Given the description of an element on the screen output the (x, y) to click on. 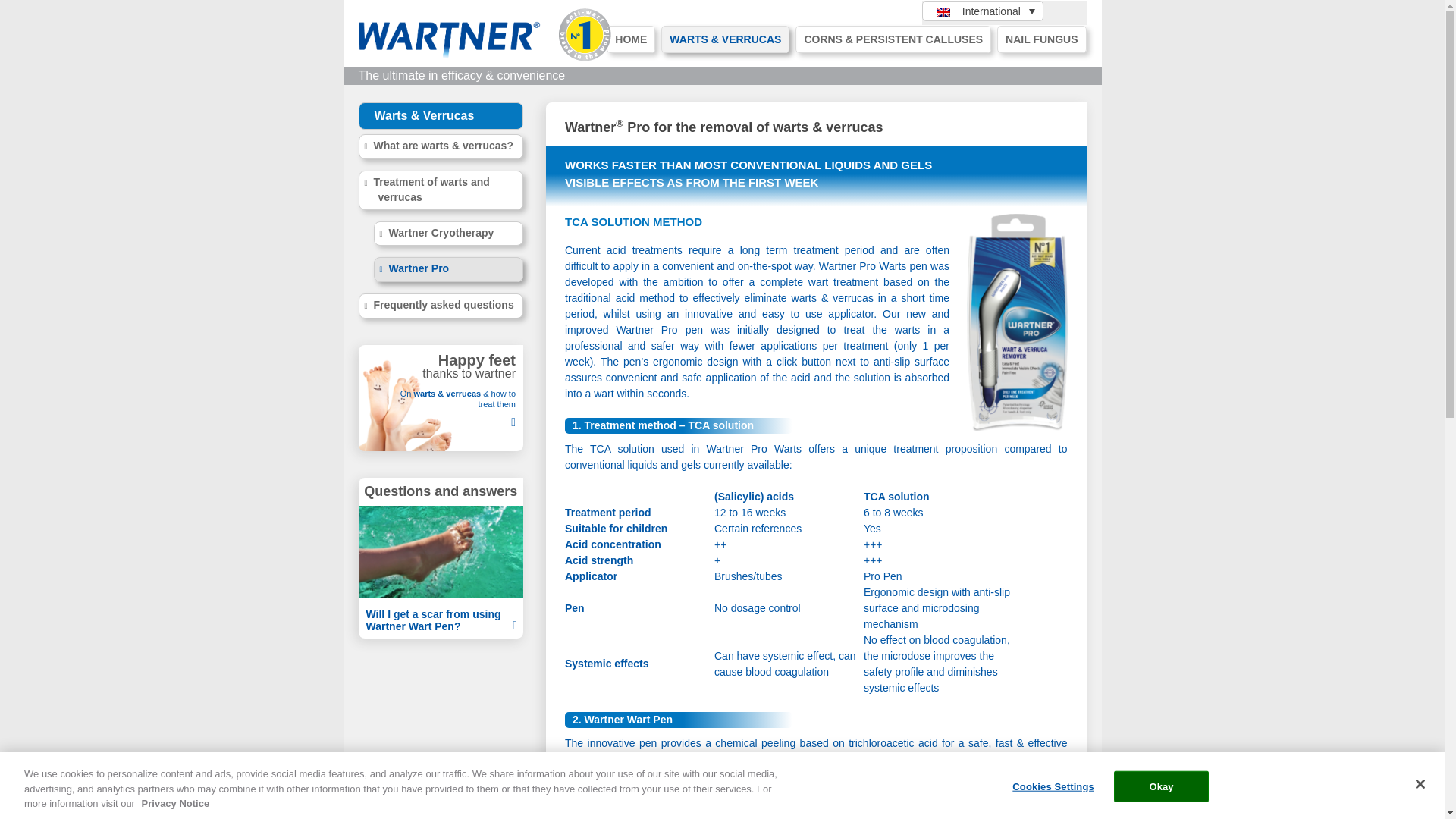
Frequently asked questions (440, 305)
International (982, 10)
NAIL FUNGUS (1041, 39)
HOME (631, 39)
Will I get a scar from using Wartner Wart Pen? (440, 620)
Treatment of warts and verrucas (440, 189)
SKIP TO CONTENT (615, 33)
Wartner Pro (447, 269)
Wartner Cryotherapy (447, 233)
